Given the description of an element on the screen output the (x, y) to click on. 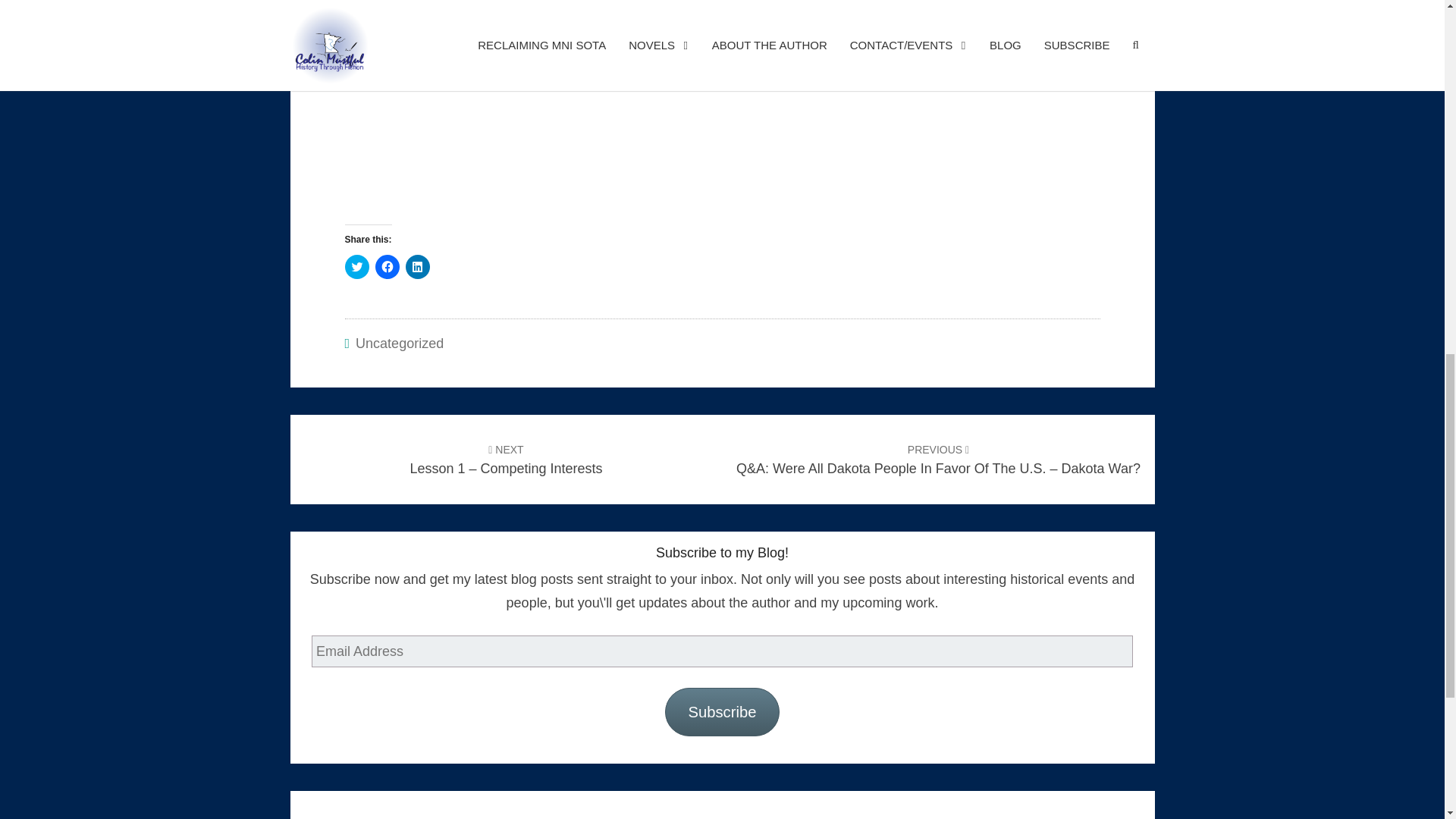
Uncategorized (399, 343)
Click to share on Twitter (355, 266)
Click to share on Facebook (386, 266)
Subscribe (721, 711)
Click to share on LinkedIn (416, 266)
